Given the description of an element on the screen output the (x, y) to click on. 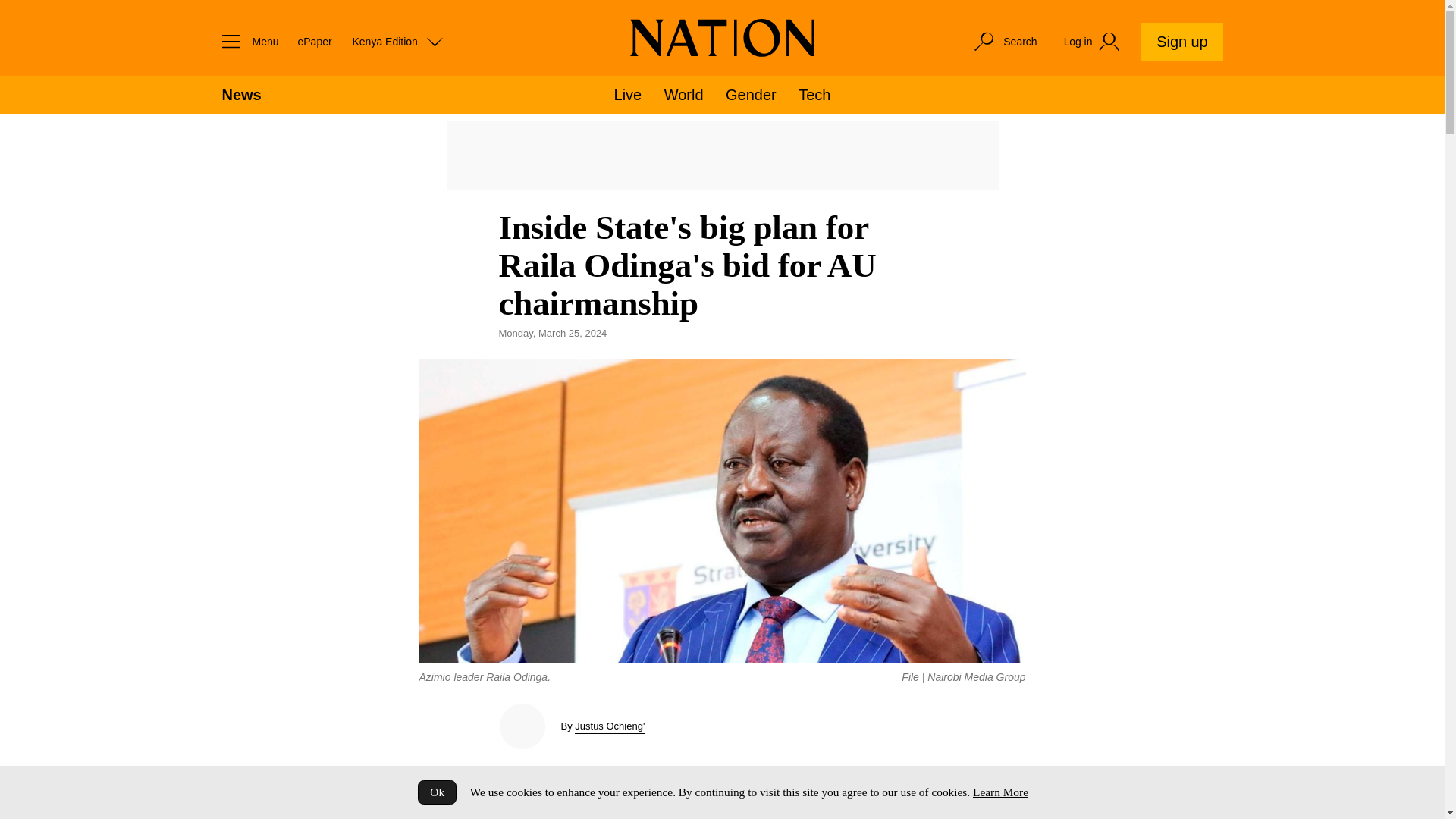
Sign up (1182, 41)
ePaper (314, 41)
Learn More (999, 791)
Kenya Edition (398, 41)
News (240, 94)
Live (628, 94)
Ok (437, 792)
Learn More (999, 791)
Menu (246, 41)
Log in (1094, 41)
